Given the description of an element on the screen output the (x, y) to click on. 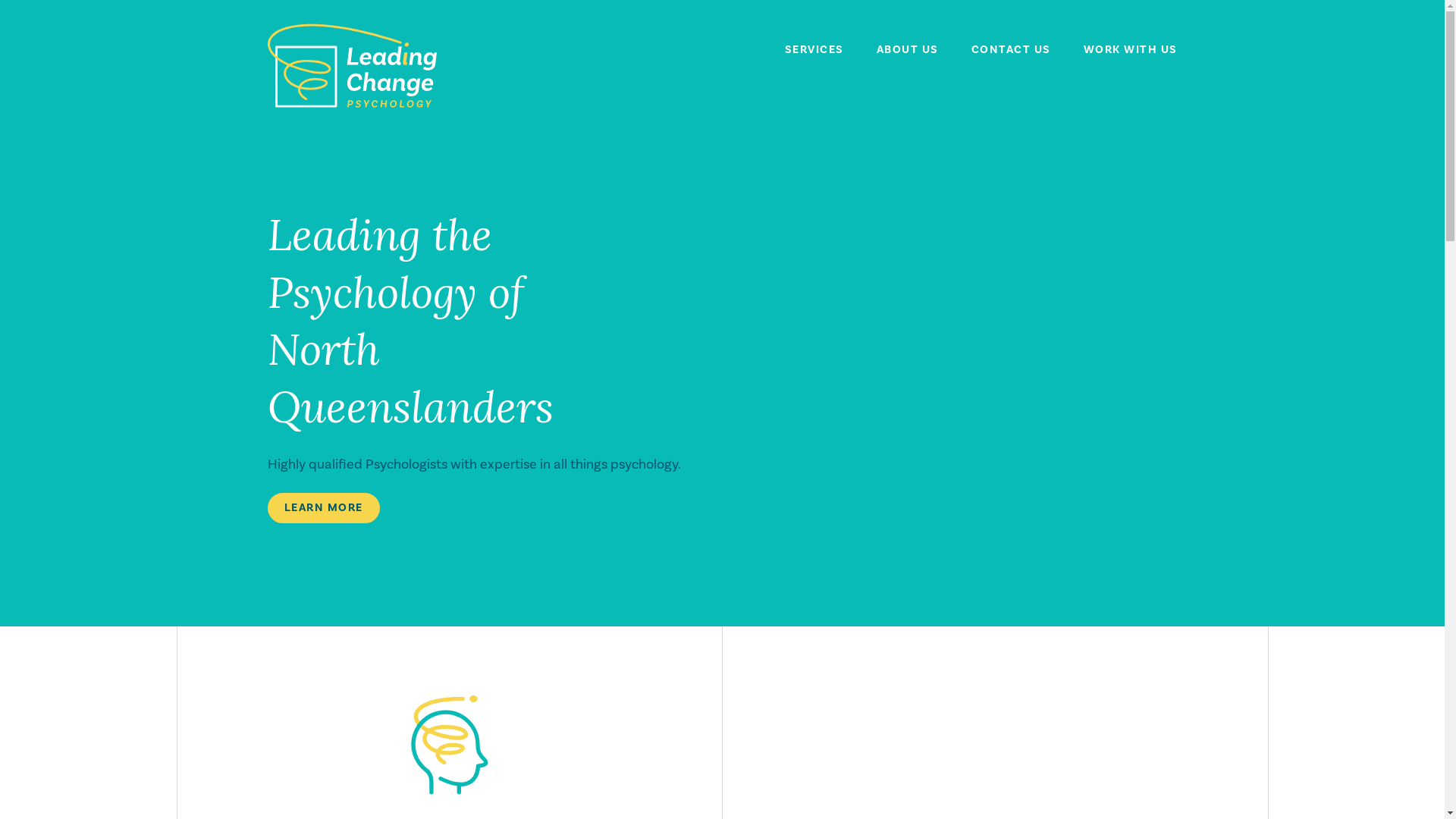
LEARN MORE Element type: text (322, 507)
CONTACT US Element type: text (1010, 49)
WORK WITH US Element type: text (1129, 49)
ABOUT US Element type: text (907, 49)
SERVICES Element type: text (813, 49)
